Given the description of an element on the screen output the (x, y) to click on. 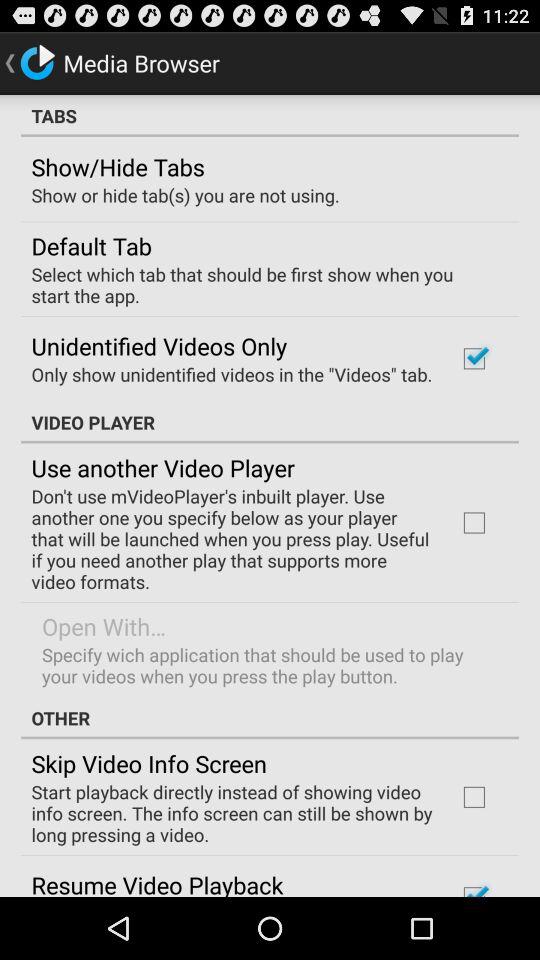
turn on the icon above other icon (268, 665)
